Given the description of an element on the screen output the (x, y) to click on. 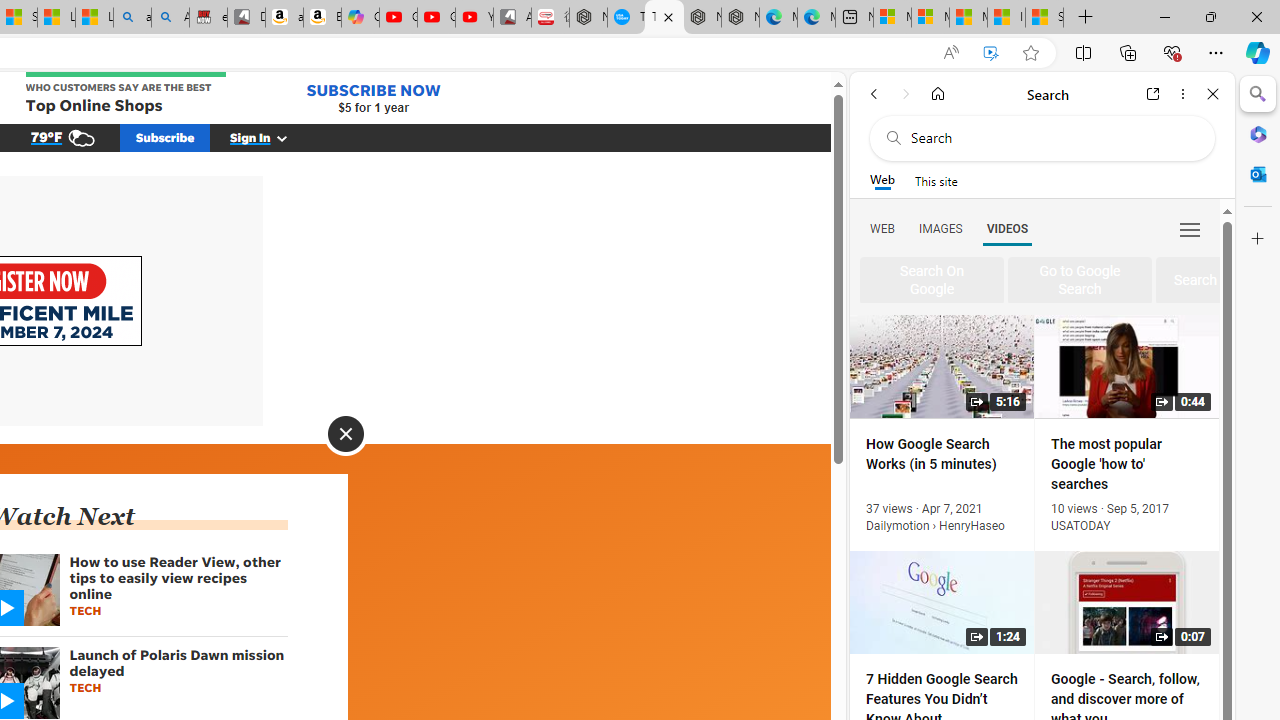
Open link in new tab (1153, 93)
amazon.in/dp/B0CX59H5W7/?tag=gsmcom05-21 (284, 17)
WEB (882, 228)
Web scope (882, 180)
Enhance video (991, 53)
Search Filter, WEB (882, 228)
Subscribe (165, 137)
VIDEOS   (1007, 228)
